Given the description of an element on the screen output the (x, y) to click on. 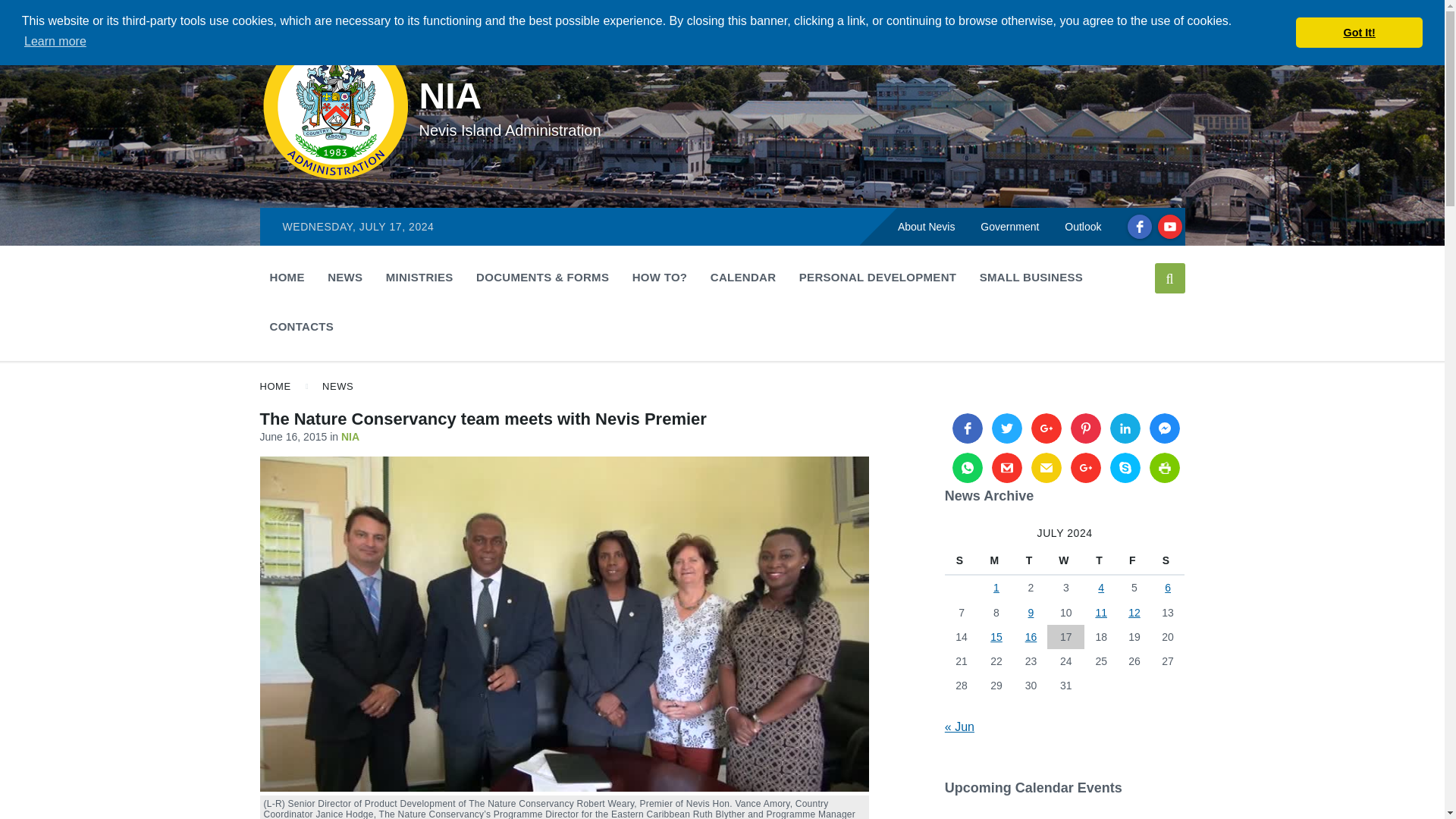
Sunday (961, 560)
Got It! (1358, 32)
MINISTRIES (419, 277)
Monday (995, 560)
Outlook (1082, 226)
Tuesday (1031, 560)
NIA (450, 96)
About Nevis (926, 226)
Learn more (54, 41)
Friday (1134, 560)
Saturday (1168, 560)
NEWS (344, 277)
Thursday (1101, 560)
Wednesday (1065, 560)
HOME (286, 277)
